Given the description of an element on the screen output the (x, y) to click on. 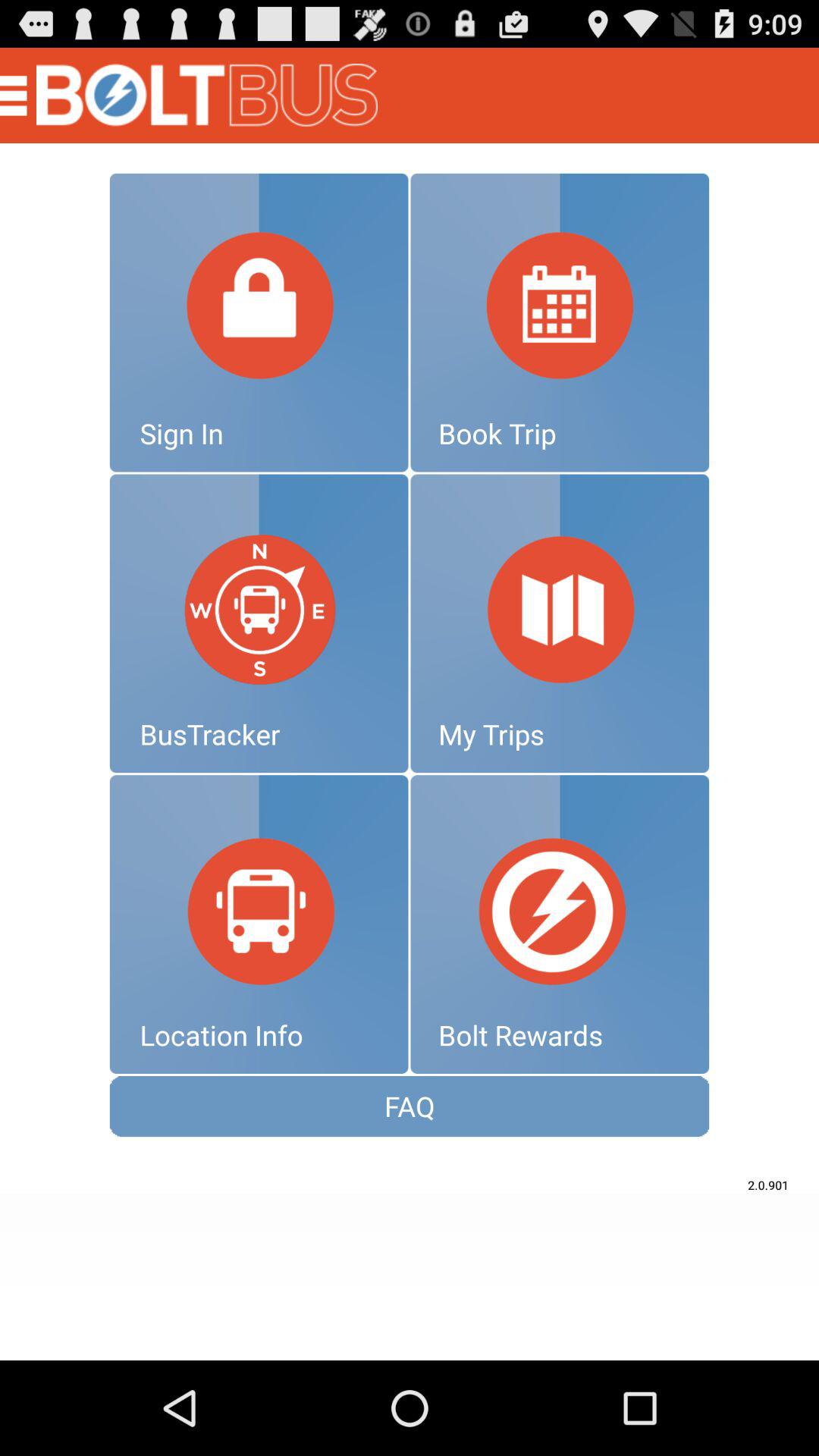
click calendar square to book trip (559, 322)
